Given the description of an element on the screen output the (x, y) to click on. 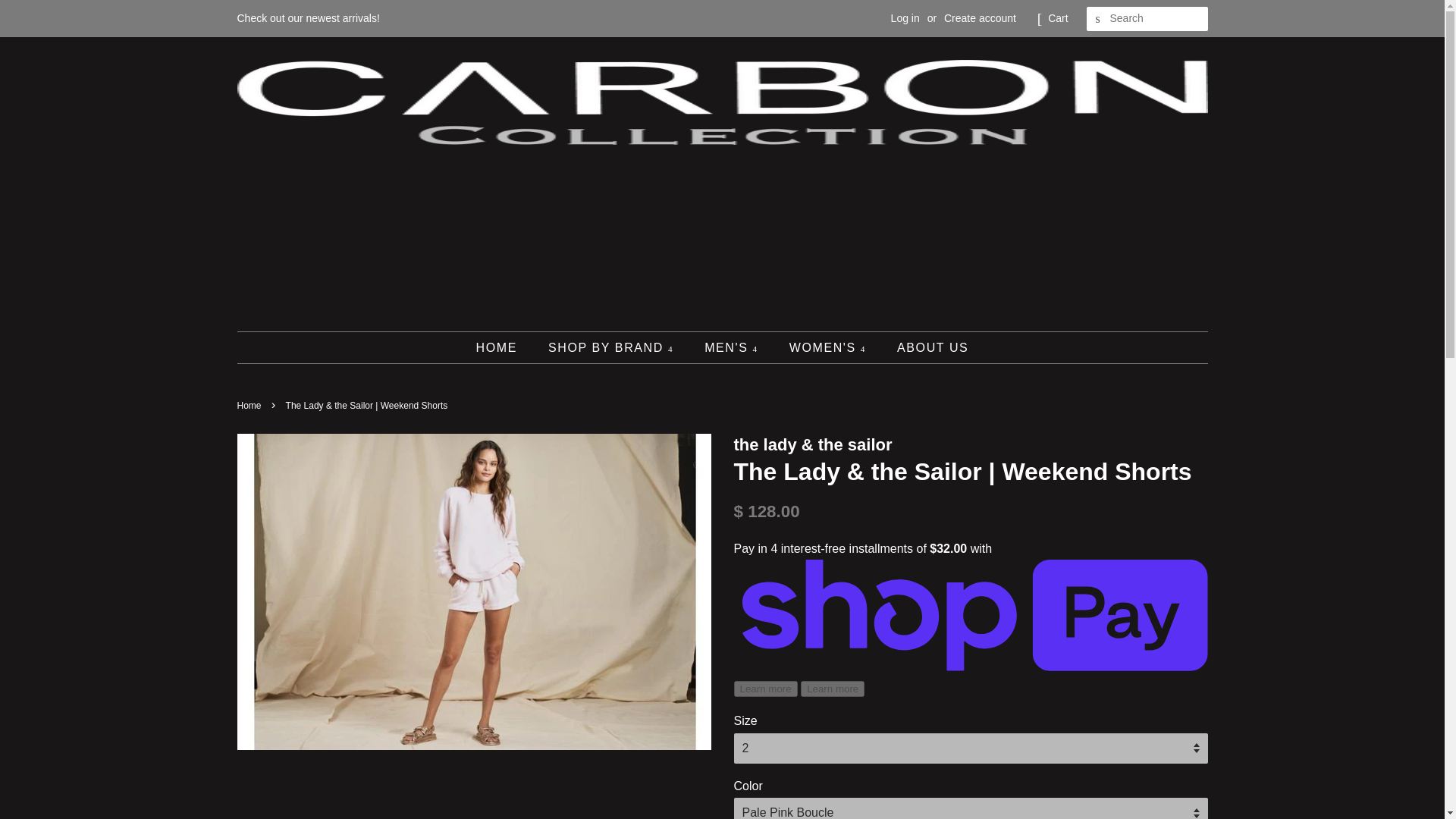
Create account (979, 18)
Back to the frontpage (249, 405)
SEARCH (1097, 18)
Log in (905, 18)
Check out our newest arrivals! (306, 18)
Cart (1057, 18)
